Given the description of an element on the screen output the (x, y) to click on. 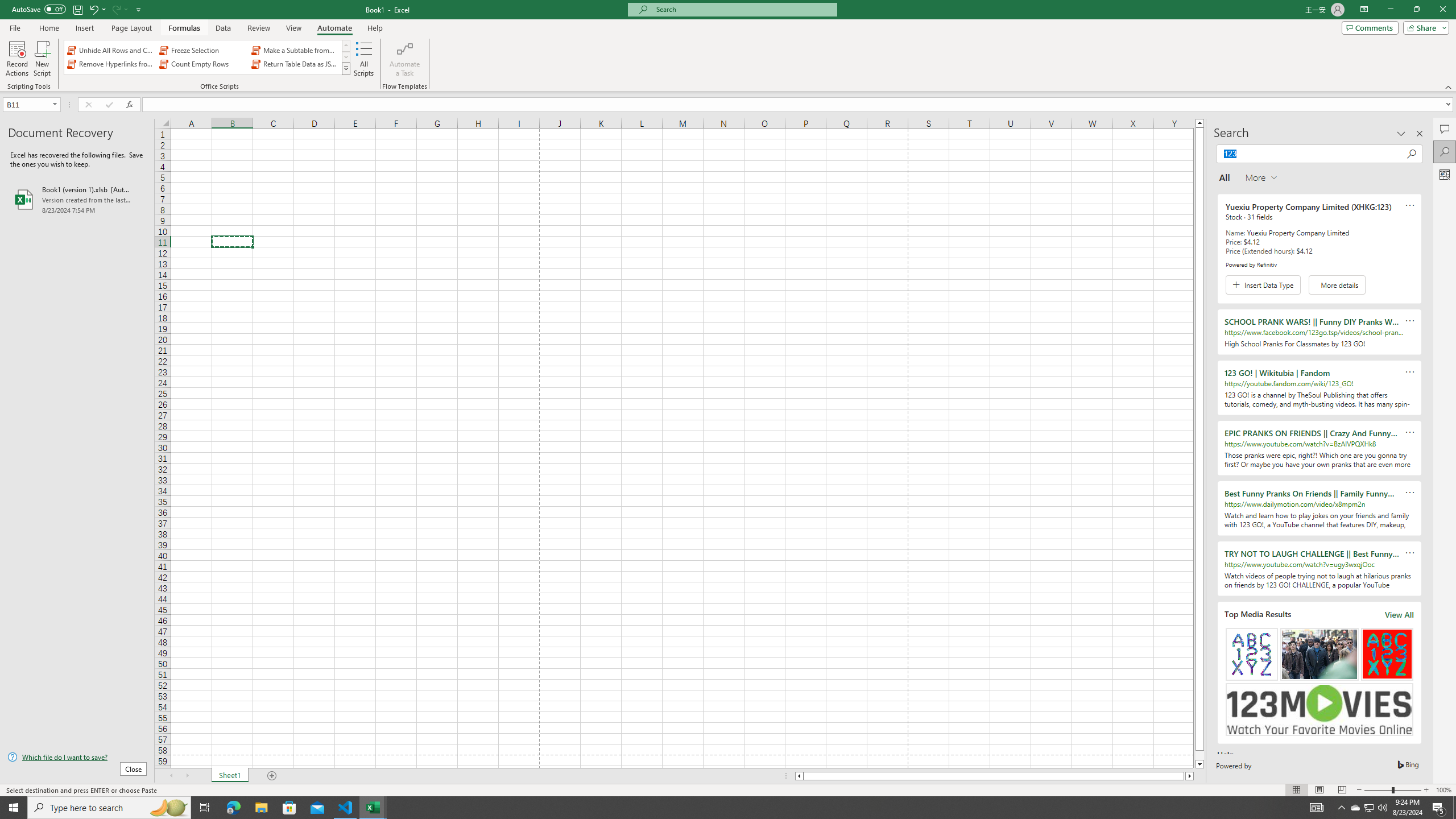
Make a Subtable from a Selection (294, 50)
